Given the description of an element on the screen output the (x, y) to click on. 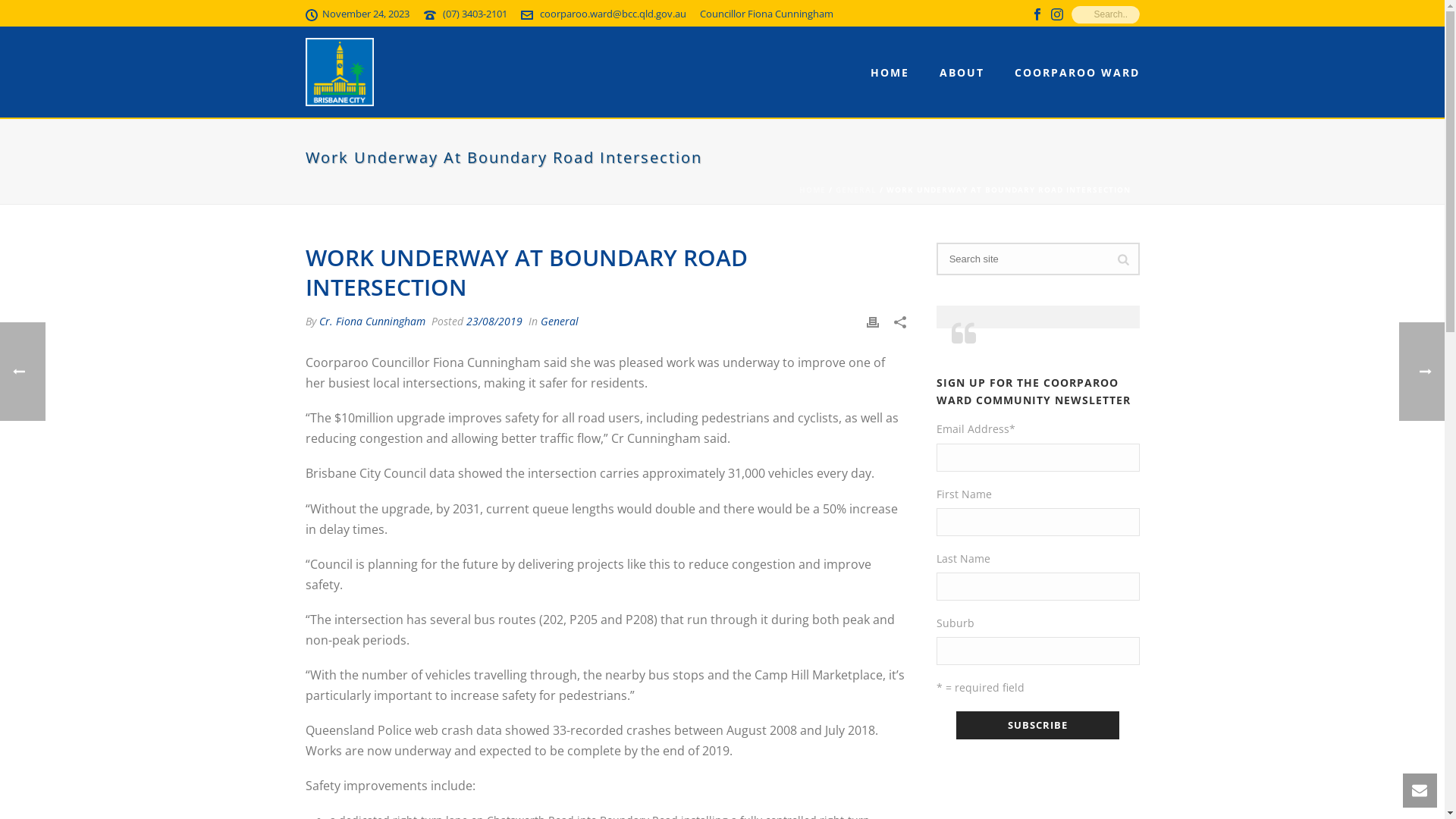
COORPAROO WARD Element type: text (1076, 72)
Subscribe Element type: text (1037, 725)
Print Element type: hover (872, 320)
Councillor for Coorparoo Ward Element type: hover (338, 71)
coorparoo.ward@bcc.qld.gov.au Element type: text (612, 13)
Cr. Fiona Cunningham Element type: text (371, 320)
(07) 3403-2101 Element type: text (474, 13)
GENERAL Element type: text (855, 189)
ABOUT Element type: text (960, 72)
HOME Element type: text (812, 189)
23/08/2019 Element type: text (493, 320)
General Element type: text (558, 320)
HOME Element type: text (889, 72)
